Given the description of an element on the screen output the (x, y) to click on. 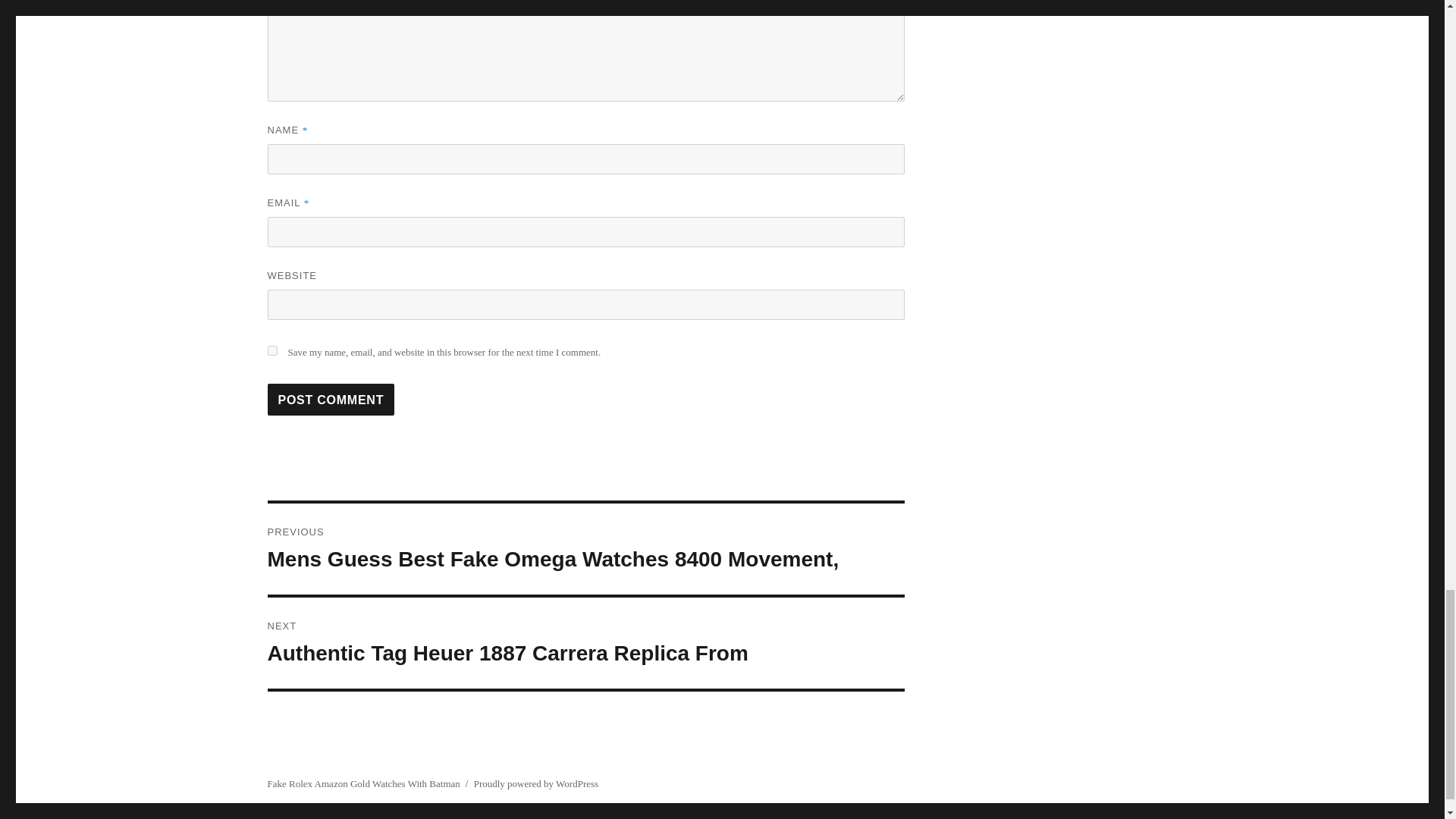
yes (271, 350)
Post Comment (330, 399)
Post Comment (330, 399)
